Given the description of an element on the screen output the (x, y) to click on. 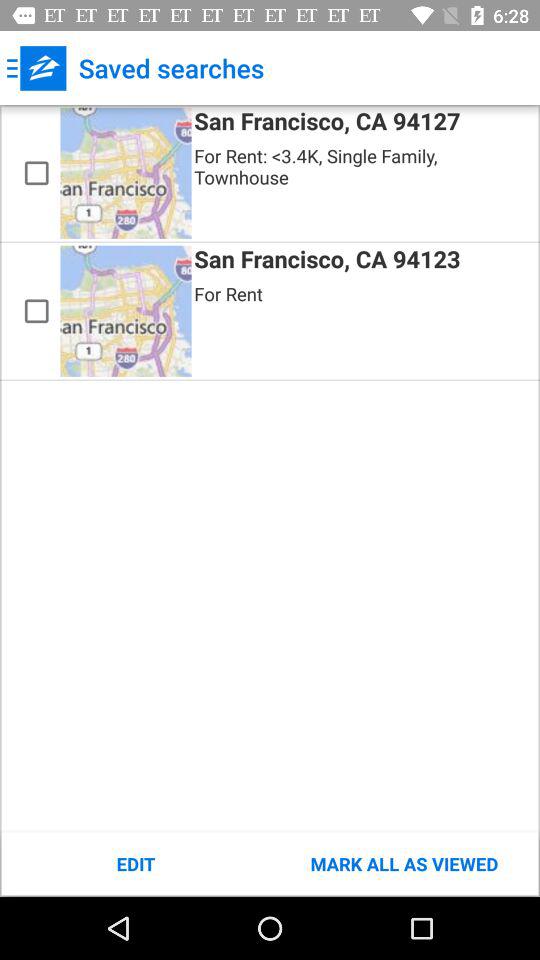
select the item at the bottom right corner (404, 863)
